Given the description of an element on the screen output the (x, y) to click on. 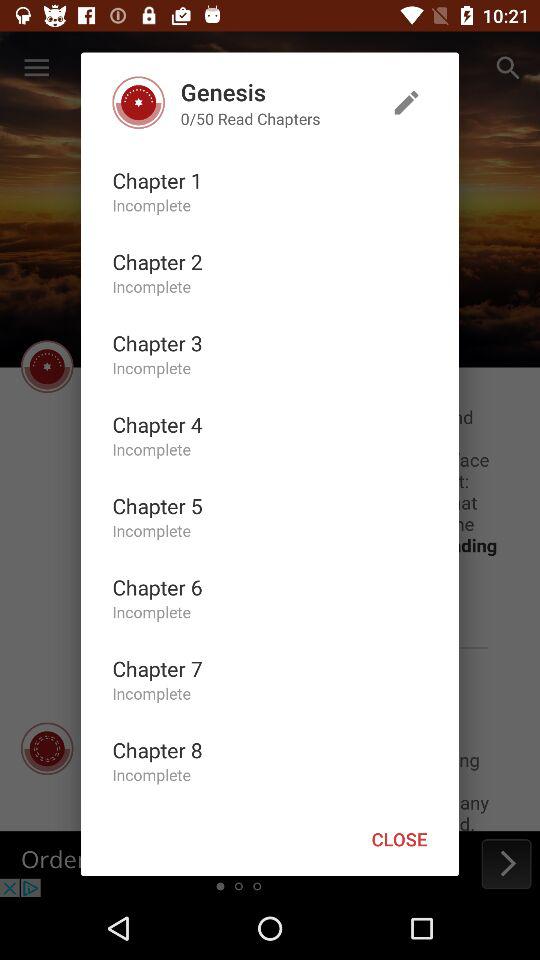
open the icon to the right of the genesis item (406, 102)
